Given the description of an element on the screen output the (x, y) to click on. 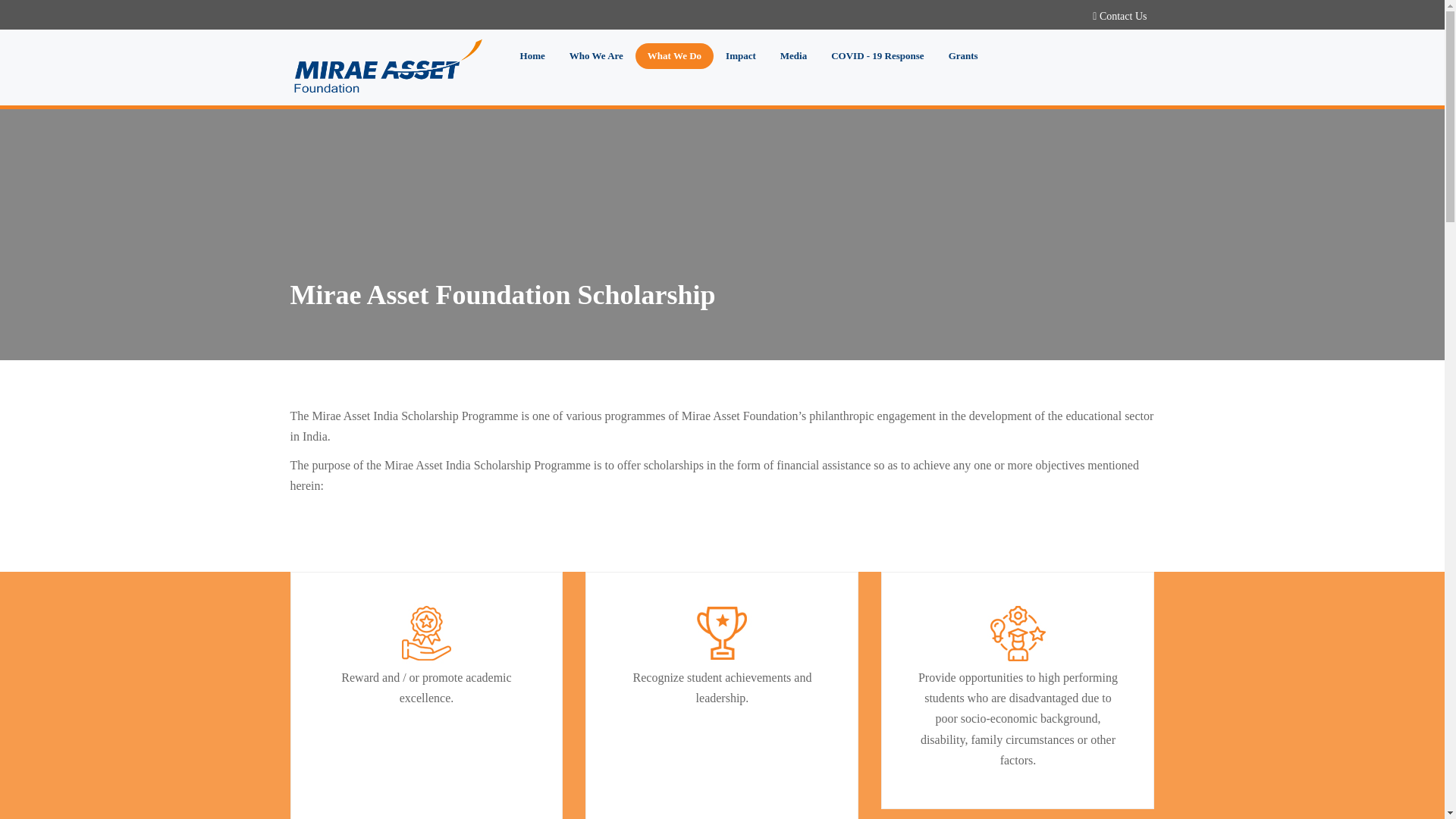
Media (793, 56)
Home (532, 56)
Who We Are (595, 56)
What We Do (673, 56)
COVID - 19 Response (877, 56)
Contact Us (1123, 16)
Grants (963, 56)
Impact (740, 56)
